Given the description of an element on the screen output the (x, y) to click on. 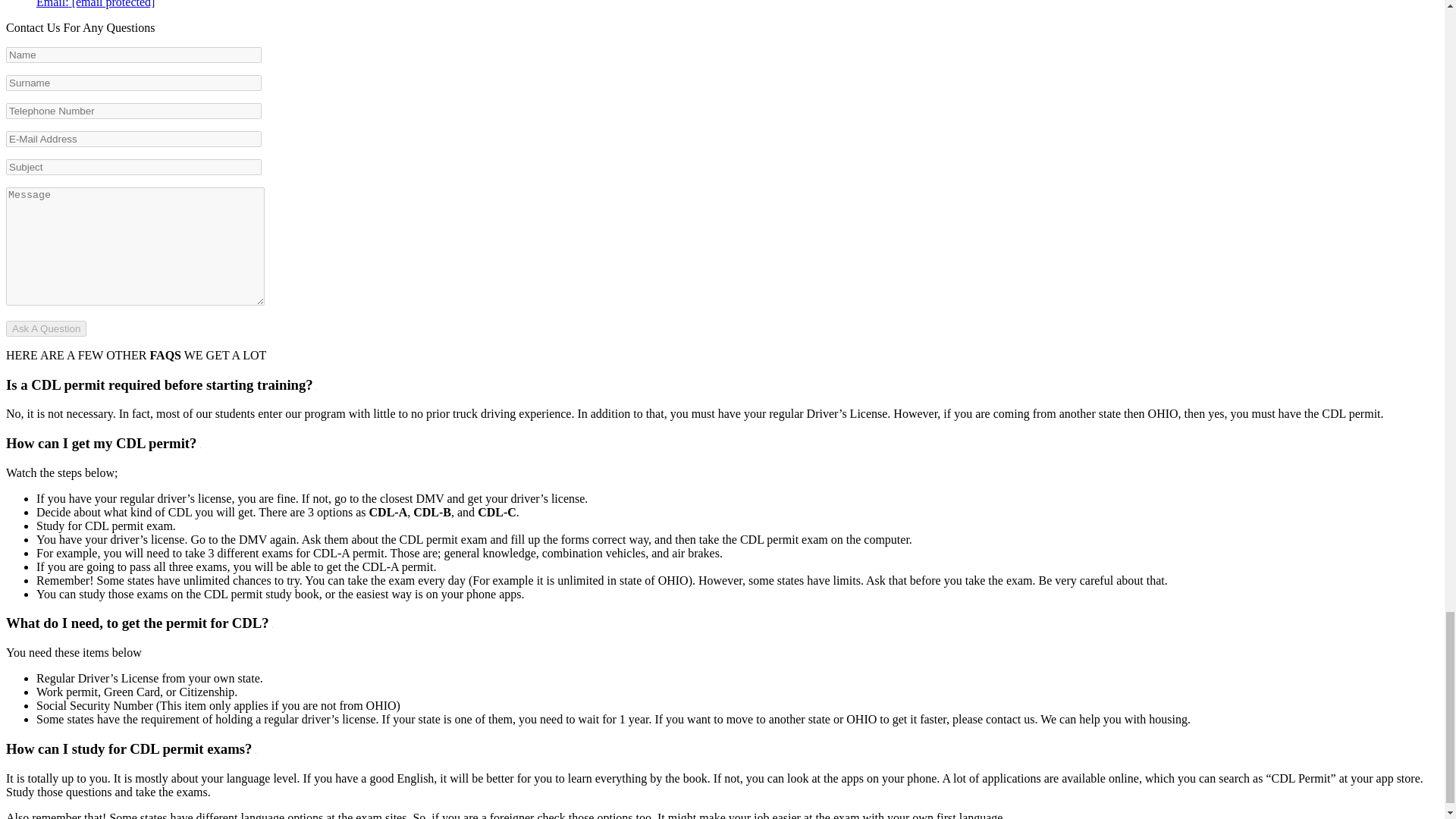
Ask A Question (45, 328)
